Given the description of an element on the screen output the (x, y) to click on. 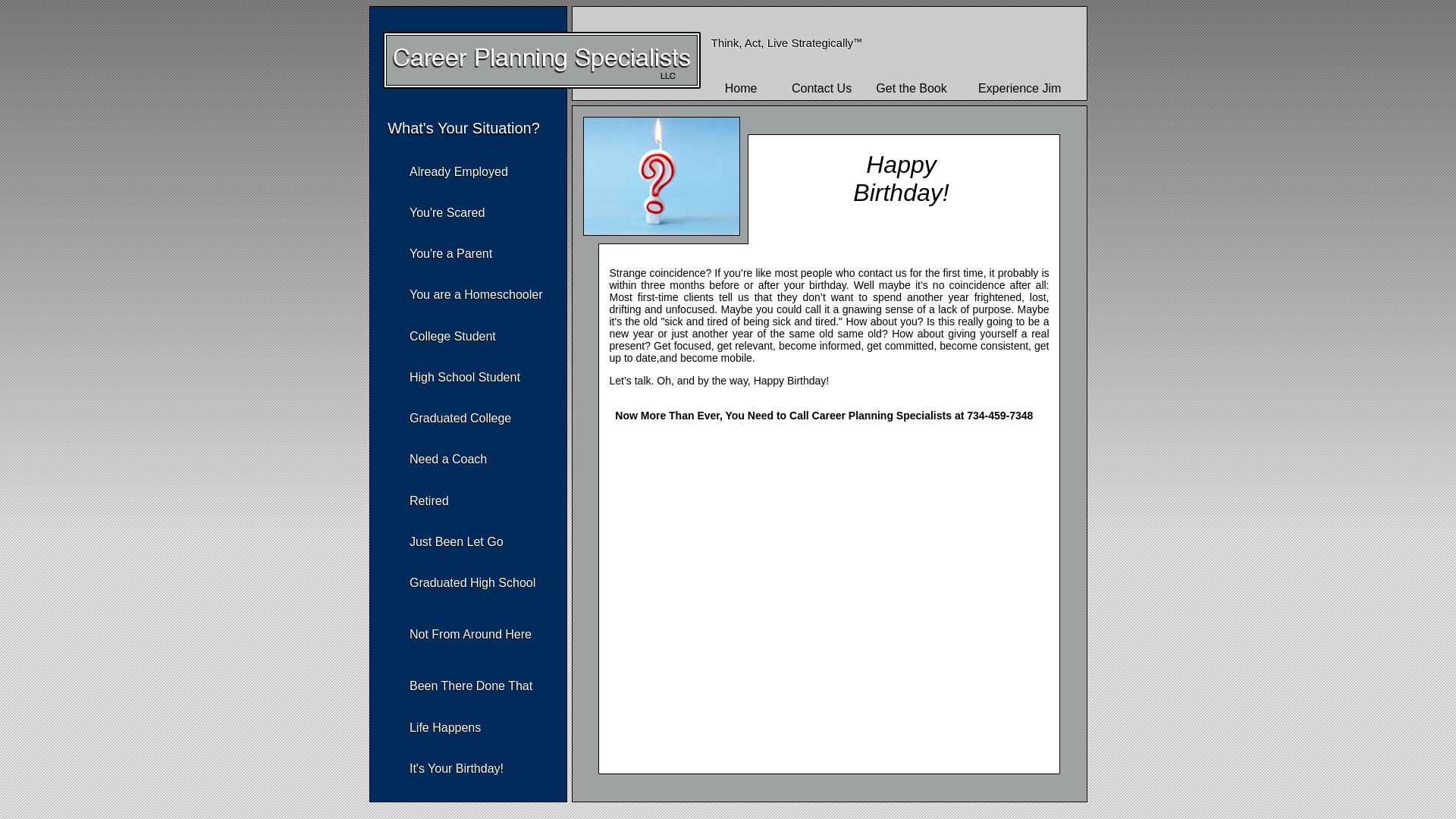
Life Happens (444, 727)
It's Your Birthday! (456, 768)
You're Scared (446, 212)
Graduated High School (472, 582)
Already Employed (458, 171)
Not From Around Here (470, 634)
You are a Homeschooler (476, 294)
Get the Book (911, 88)
Home (741, 88)
You're a Parent (450, 253)
Been There Done That (470, 685)
Graduated College (460, 418)
Experience Jim (1019, 88)
Retired (428, 500)
Just Been Let Go (456, 541)
